Given the description of an element on the screen output the (x, y) to click on. 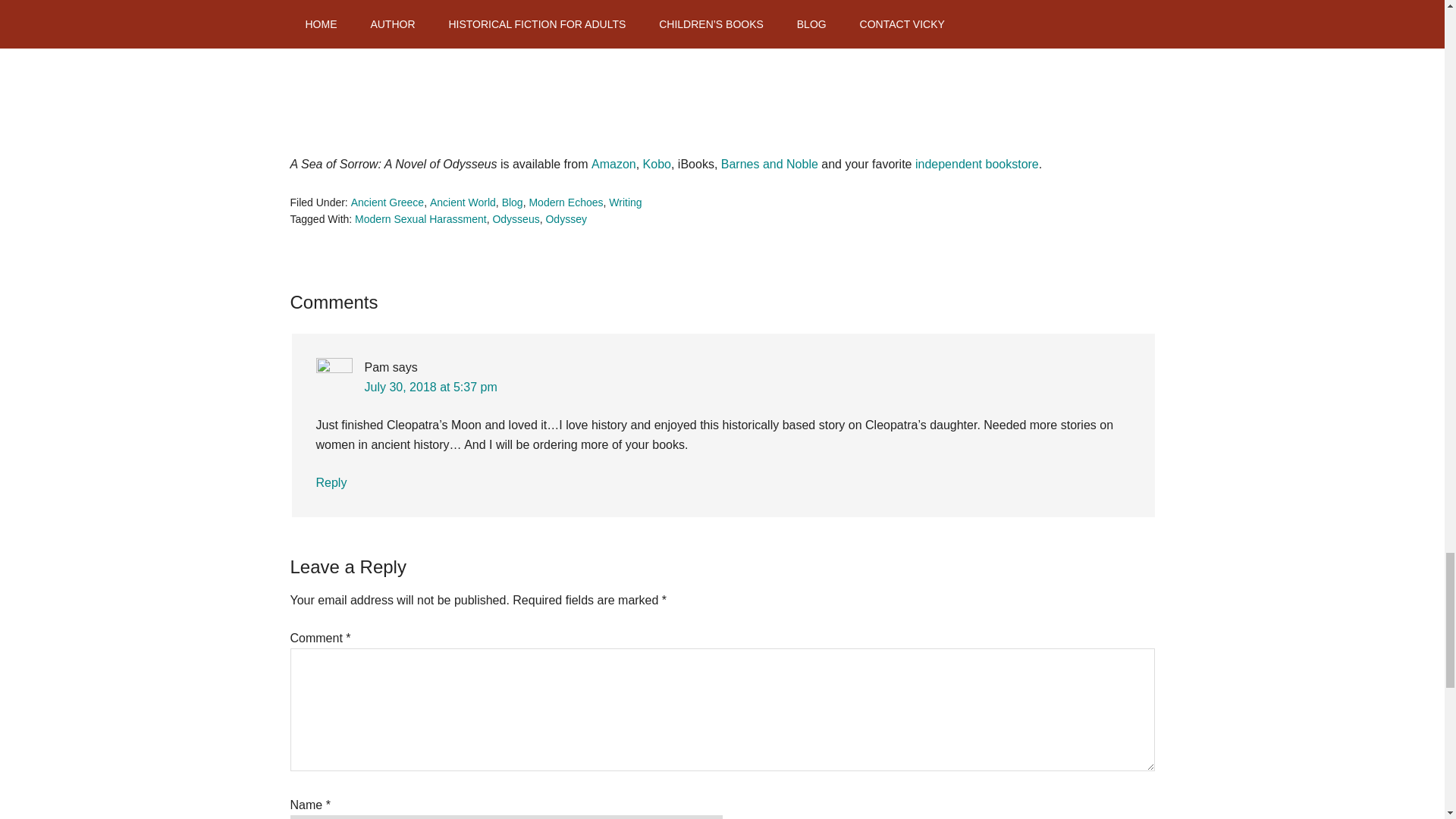
Modern Sexual Harassment (420, 218)
independent bookstore (977, 164)
Blog (512, 202)
Writing (625, 202)
Kobo (657, 164)
Ancient World (462, 202)
Barnes and Noble (769, 164)
Amazon (613, 164)
Ancient Greece (387, 202)
Modern Echoes (565, 202)
